Given the description of an element on the screen output the (x, y) to click on. 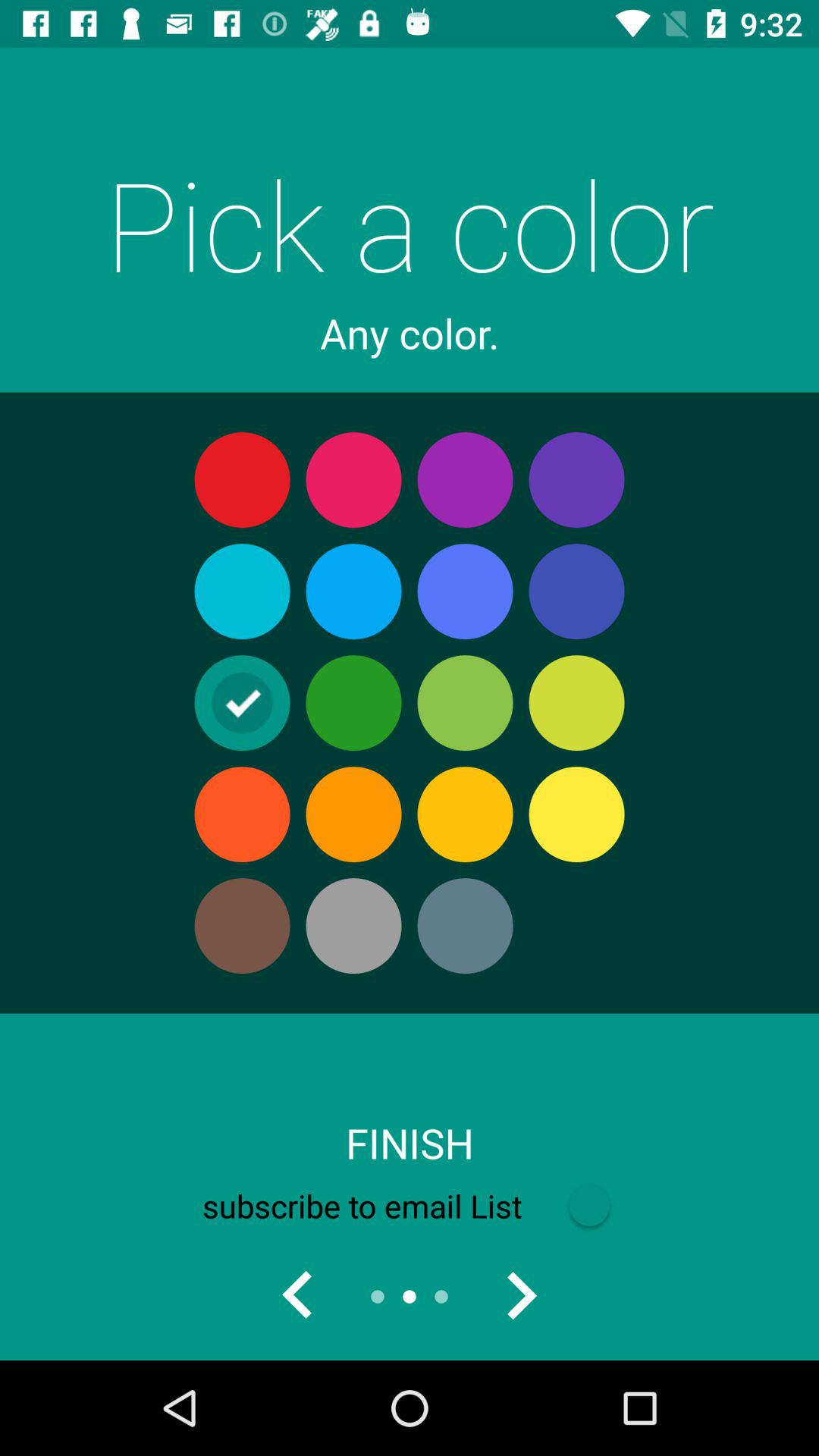
turn on subscribe to email (409, 1206)
